Given the description of an element on the screen output the (x, y) to click on. 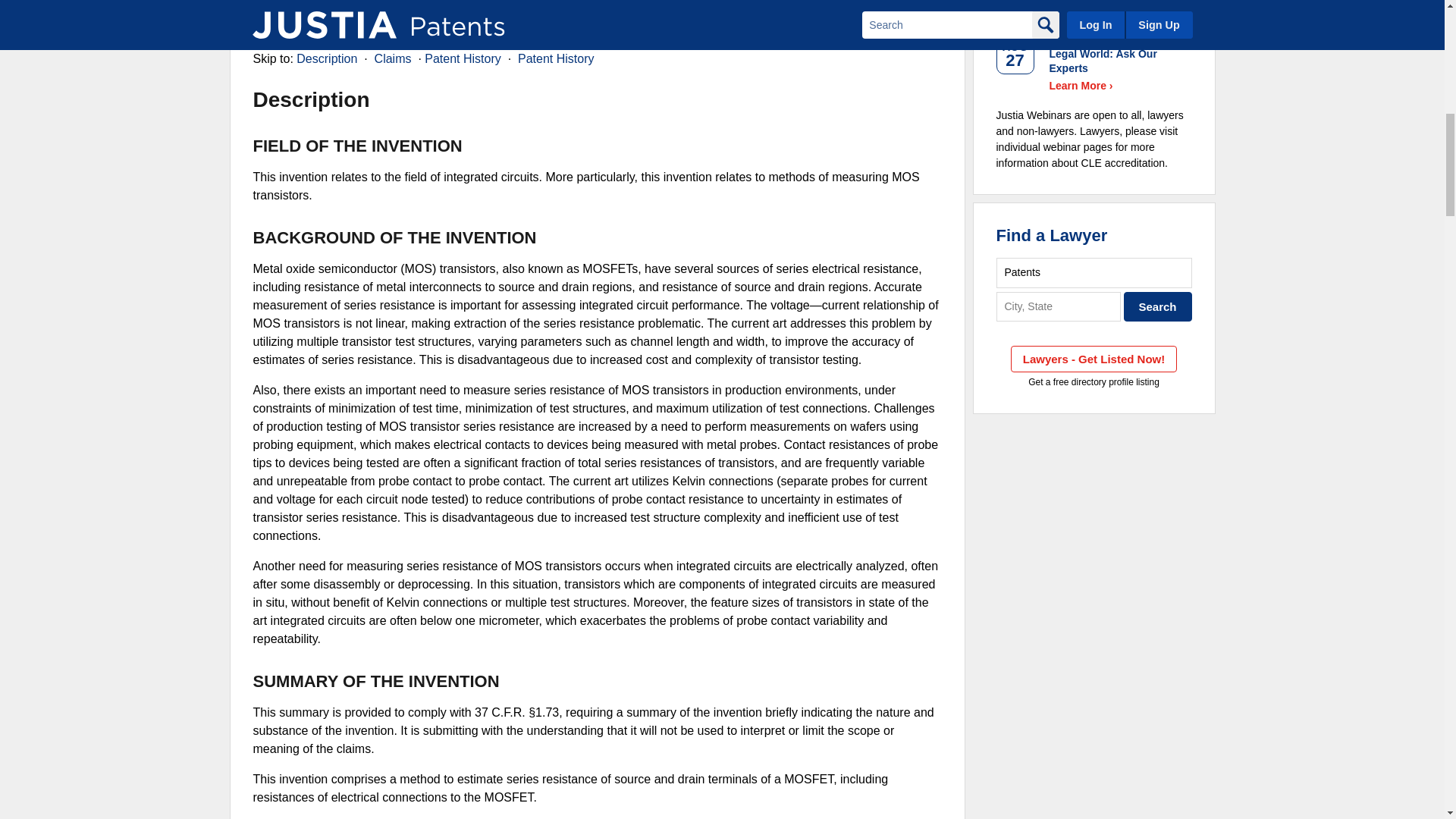
Patent History (556, 58)
Description (326, 58)
City, State (1058, 306)
Patents (1093, 272)
Legal Issue or Lawyer Name (1093, 272)
Search (1158, 306)
Search (1158, 306)
Claims (393, 58)
